Given the description of an element on the screen output the (x, y) to click on. 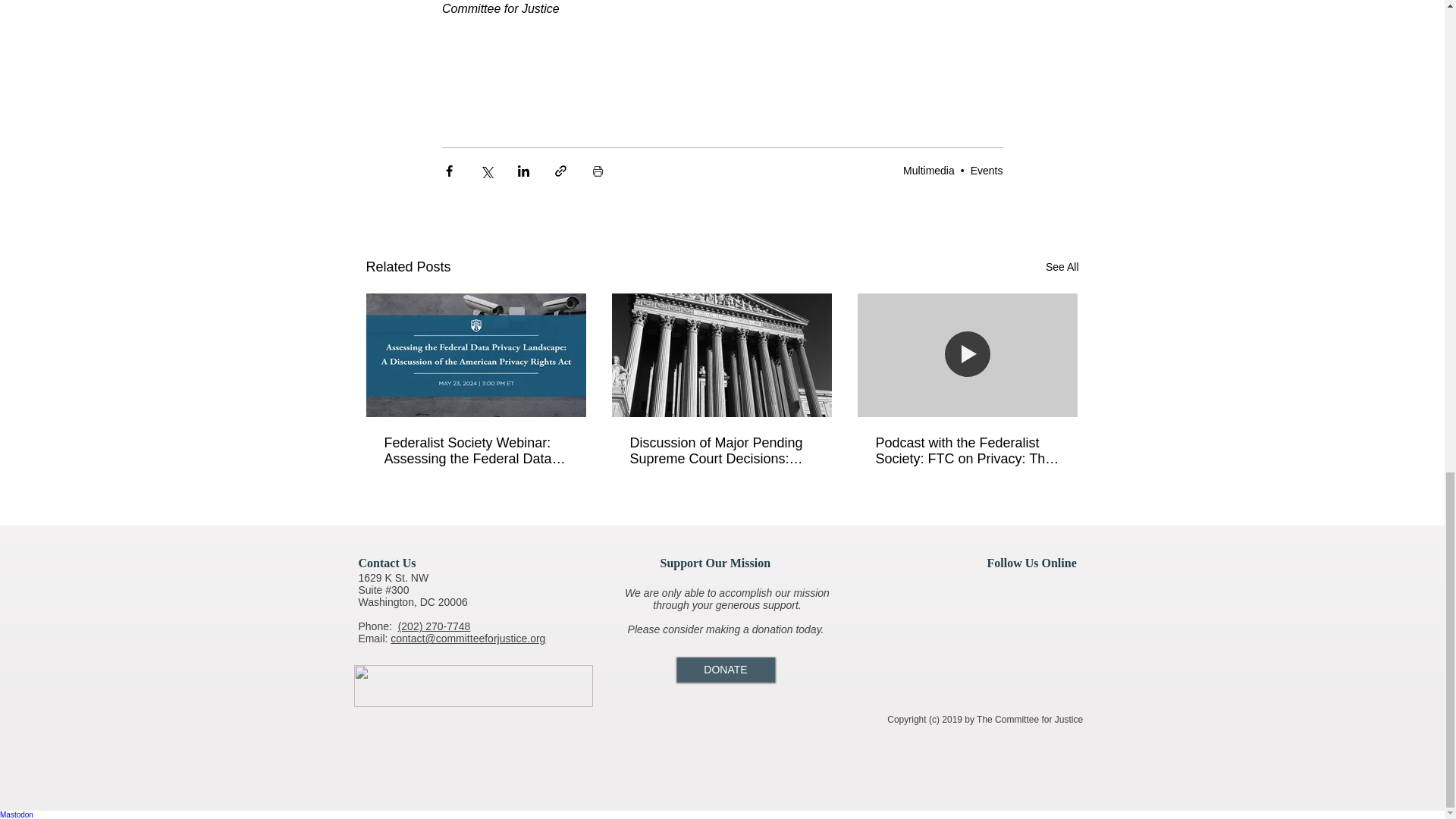
See All (1061, 267)
Email:  (374, 638)
Events (987, 170)
Multimedia (928, 170)
DONATE (725, 669)
